Given the description of an element on the screen output the (x, y) to click on. 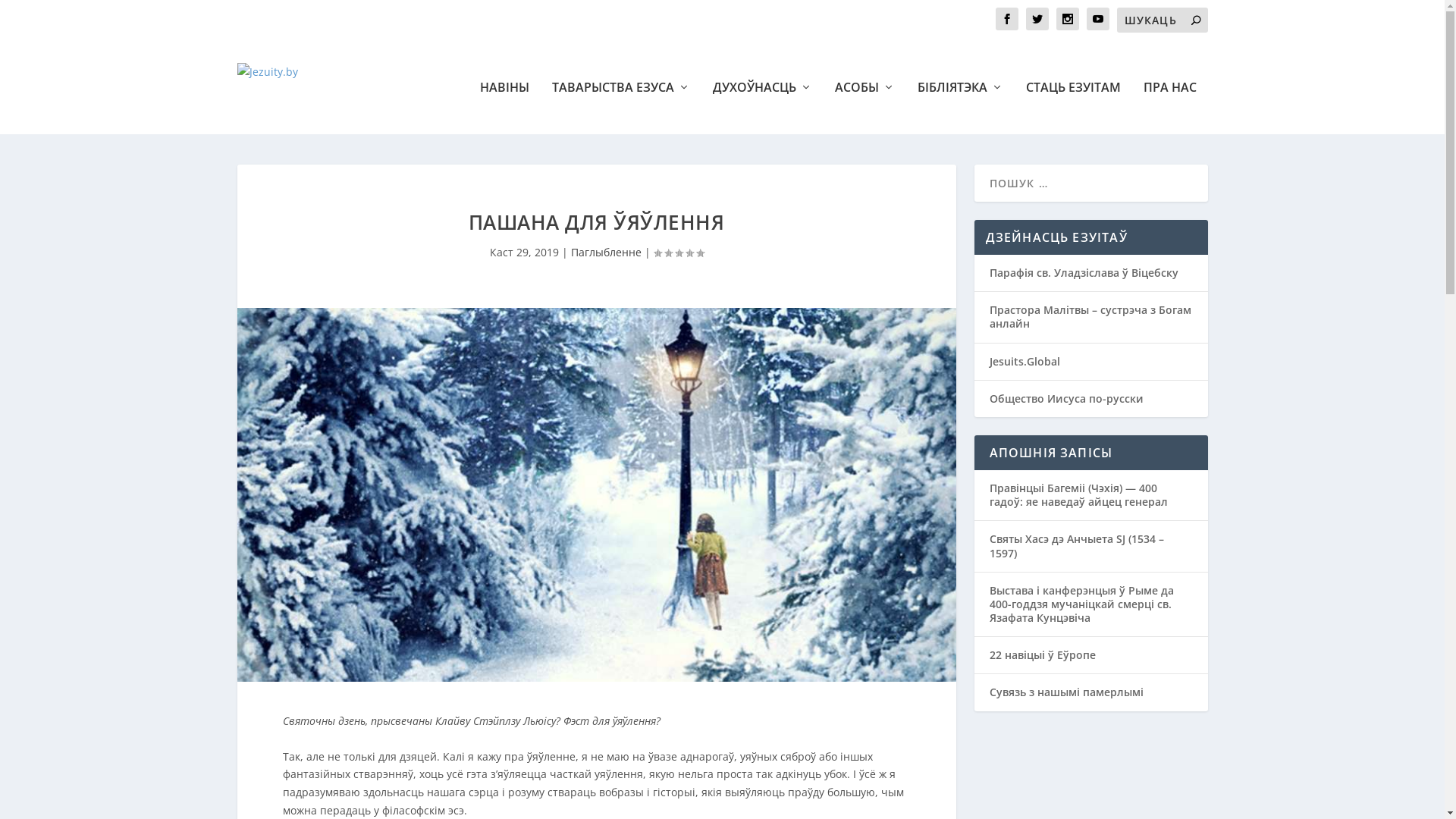
Jesuits.Global Element type: text (1023, 361)
Rating: 0.00 Element type: hover (678, 252)
Search for: Element type: hover (1161, 19)
